Given the description of an element on the screen output the (x, y) to click on. 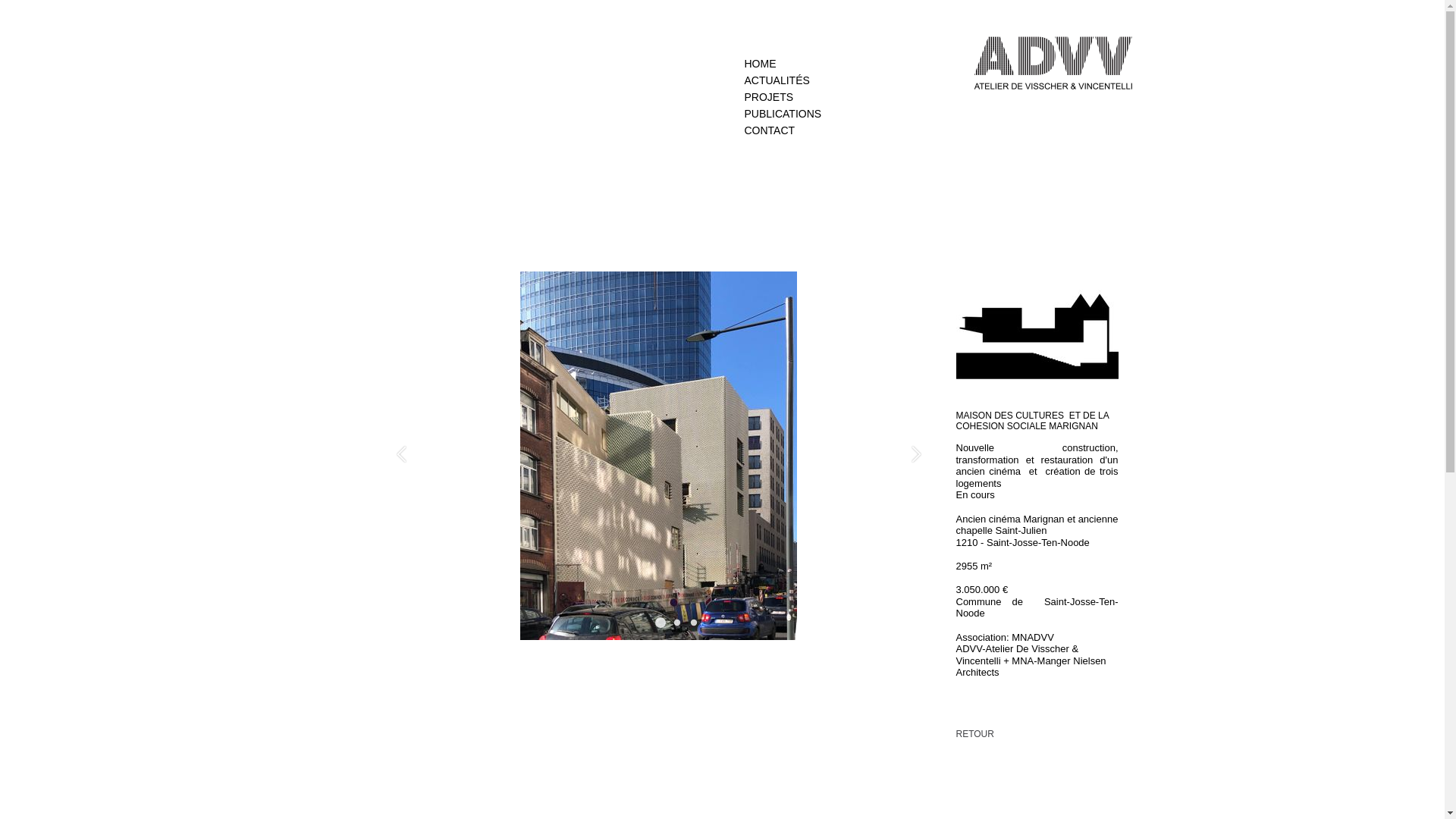
CONTACT Element type: text (782, 128)
HOME Element type: text (782, 61)
RETOUR Element type: text (974, 733)
PROJETS Element type: text (782, 95)
PUBLICATIONS Element type: text (782, 111)
1 Element type: hover (658, 455)
